Given the description of an element on the screen output the (x, y) to click on. 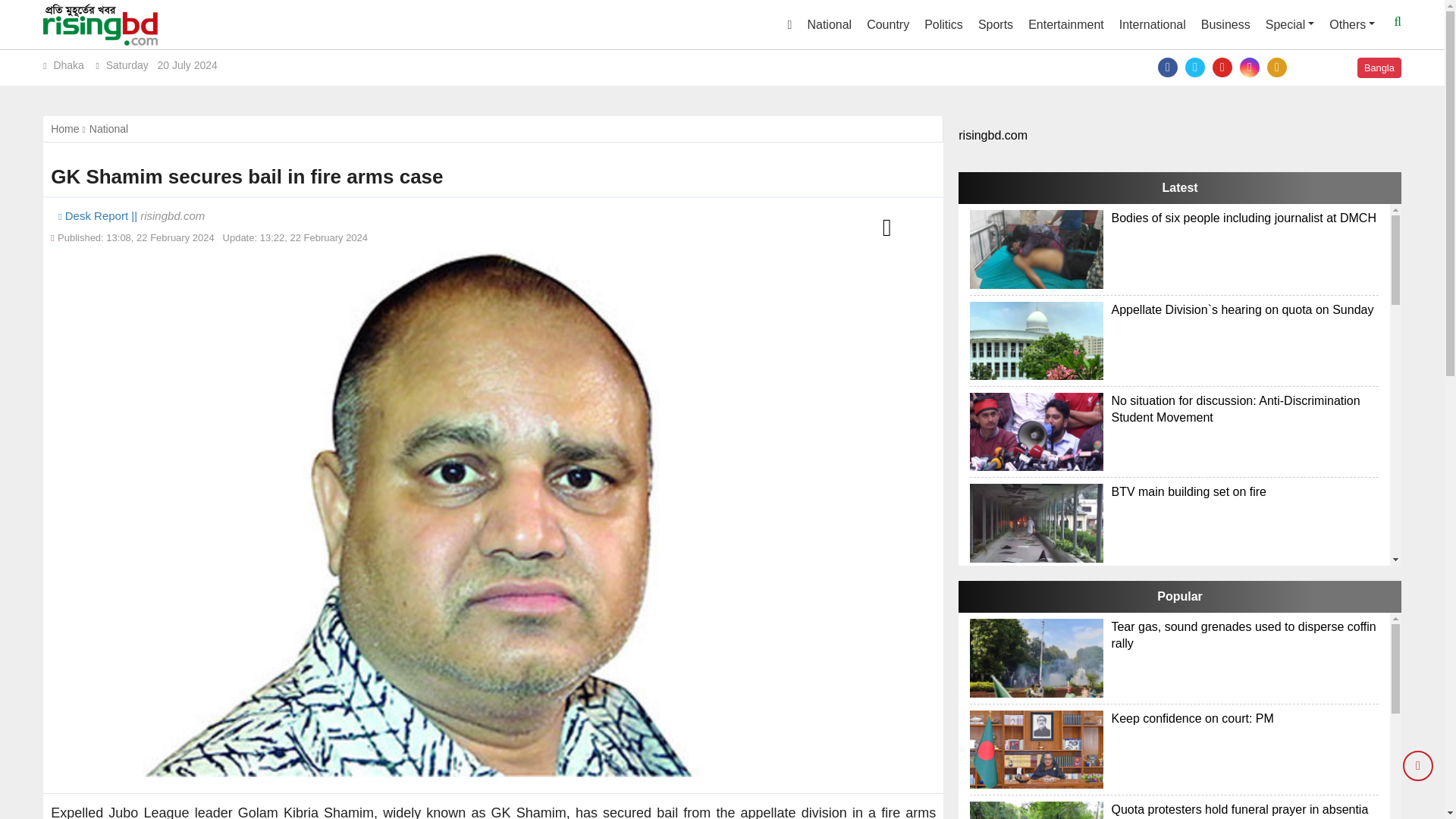
Residential College student killed in clash with police (1036, 788)
Student killed in Savar clash (1036, 613)
Janhvi Kapoor hospitalised (1036, 705)
National (829, 24)
Business (1225, 24)
BTV main building set on fire (1036, 522)
International (1152, 24)
Entertainment (1066, 24)
Others (1351, 24)
Politics (944, 24)
Bodies of six people including journalist at DMCH (1036, 248)
Special (1289, 24)
Country (888, 24)
